Given the description of an element on the screen output the (x, y) to click on. 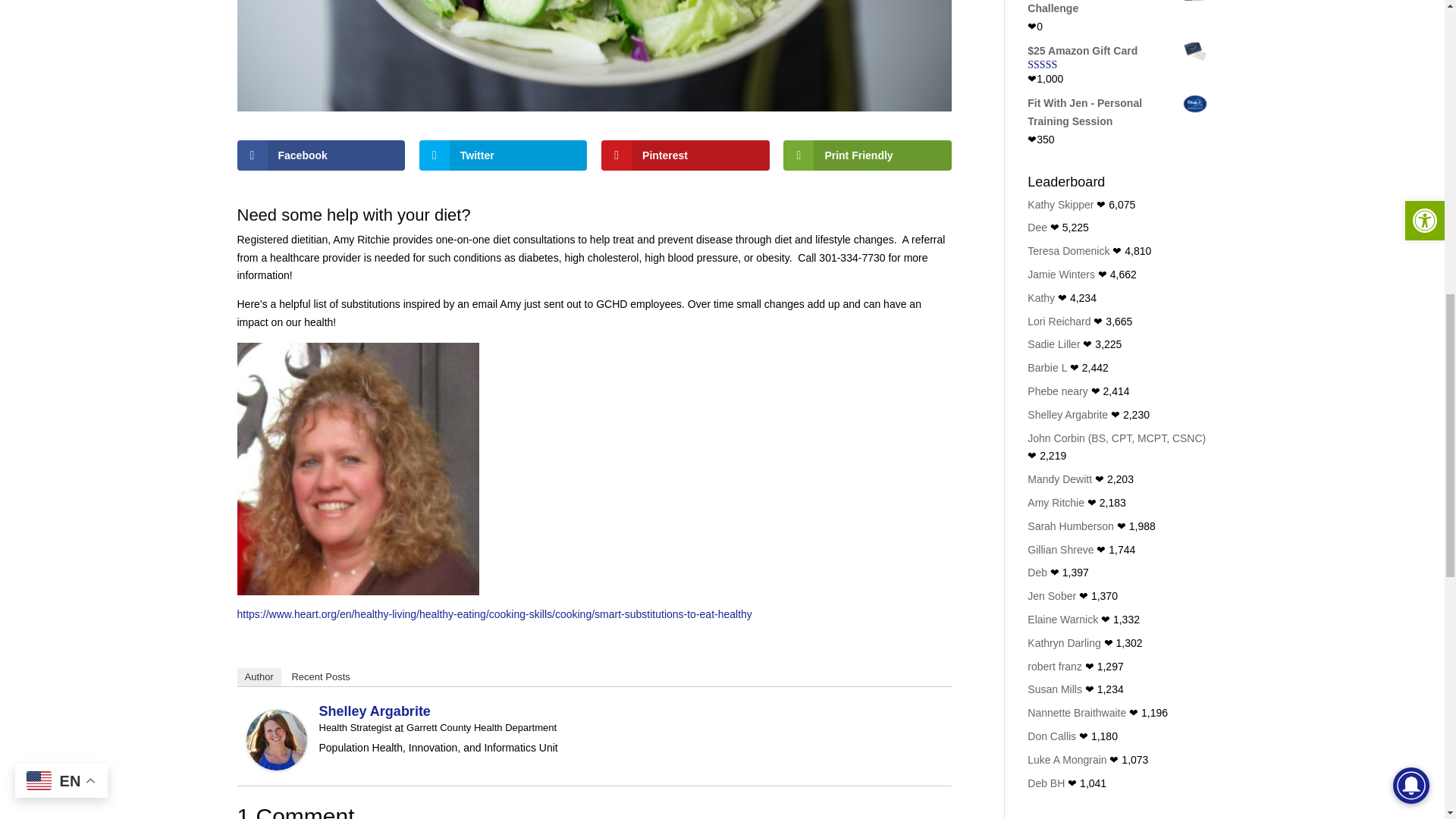
Shelley Argabrite (275, 760)
